Given the description of an element on the screen output the (x, y) to click on. 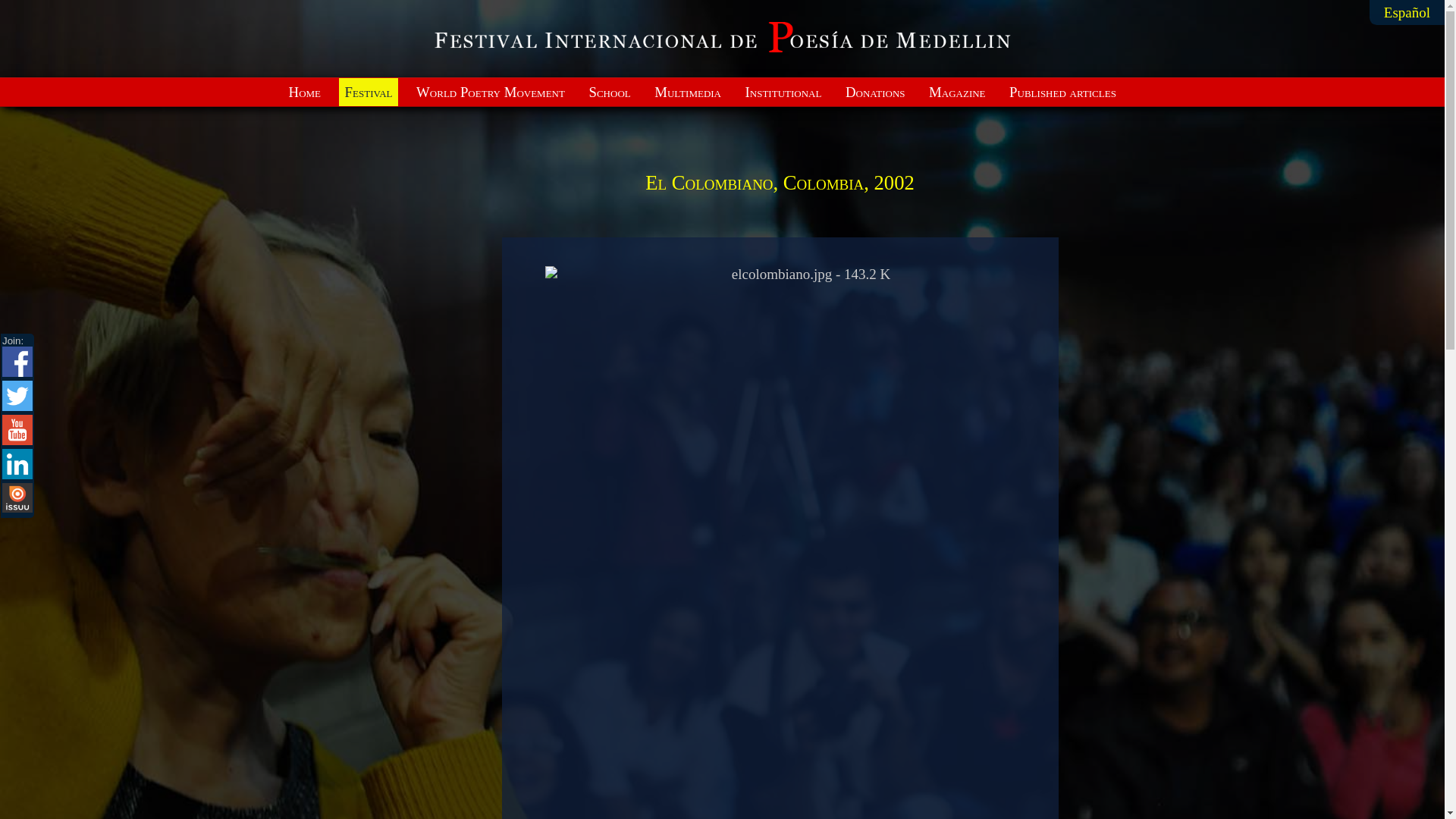
Festival (368, 91)
Multimedia (687, 91)
World Poetry Movement (490, 91)
Home (304, 91)
Published articles (1063, 91)
School (609, 91)
Institutional (783, 91)
Magazine (957, 91)
Donations (875, 91)
